Given the description of an element on the screen output the (x, y) to click on. 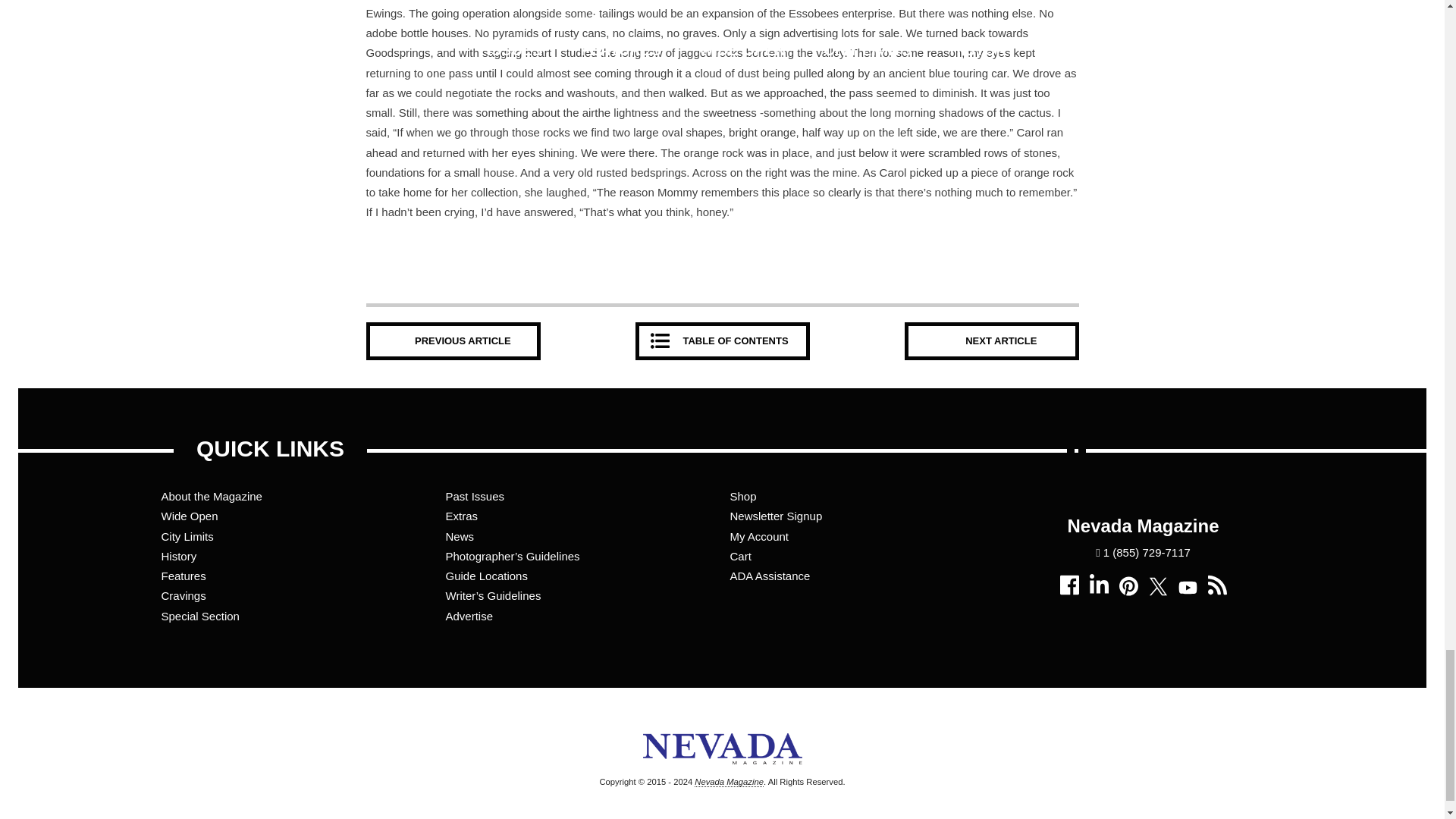
Nevada Magazine (722, 772)
Nevada Magazine (728, 782)
